Given the description of an element on the screen output the (x, y) to click on. 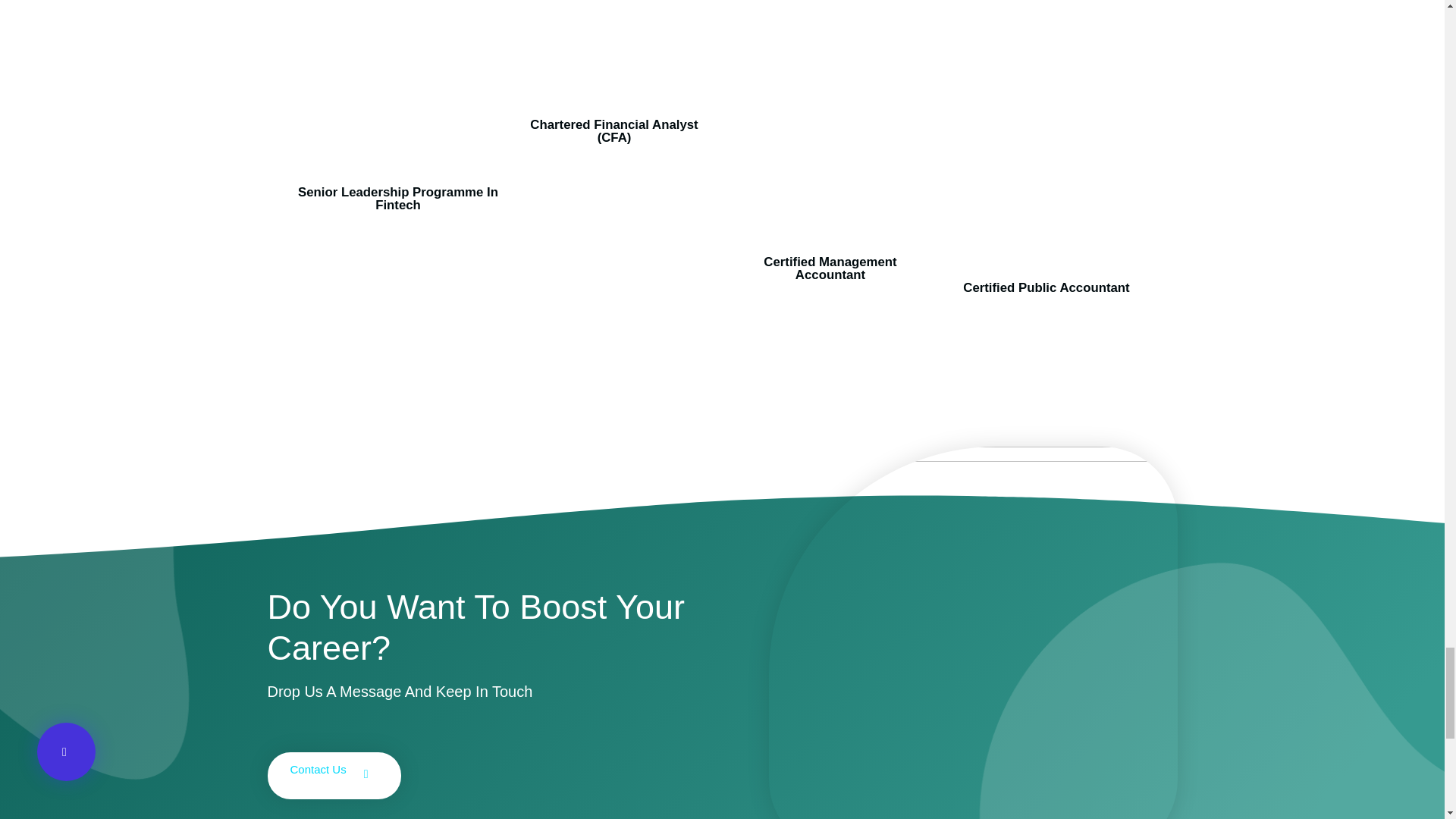
Contact Us (333, 775)
Senior Leadership Programme In Fintech (397, 198)
Certified Management Accountant (829, 267)
Certified Public Accountant (1045, 287)
